Given the description of an element on the screen output the (x, y) to click on. 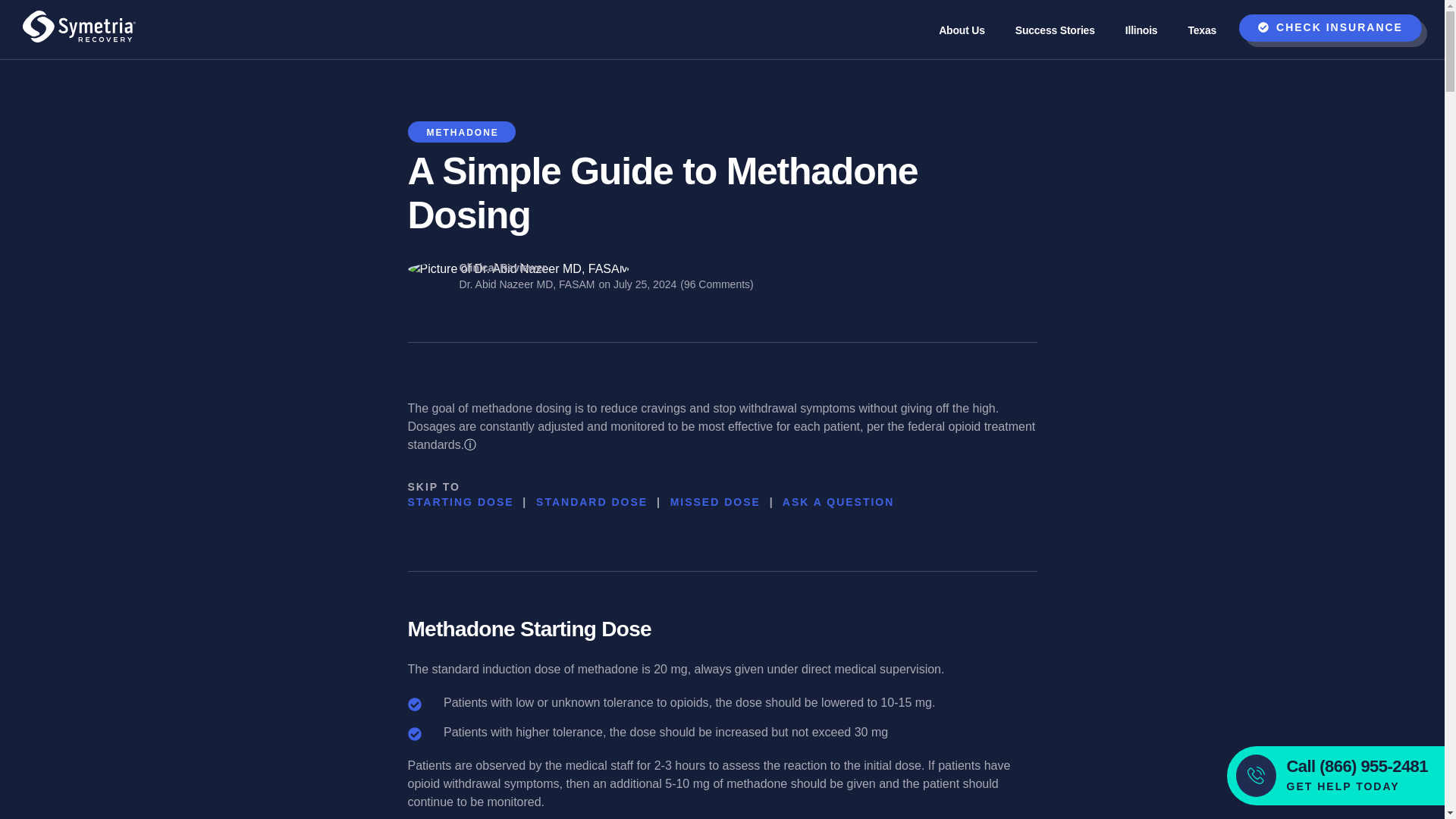
Texas (1201, 23)
Success Stories (1054, 23)
Illinois (1141, 23)
About Us (961, 23)
